Given the description of an element on the screen output the (x, y) to click on. 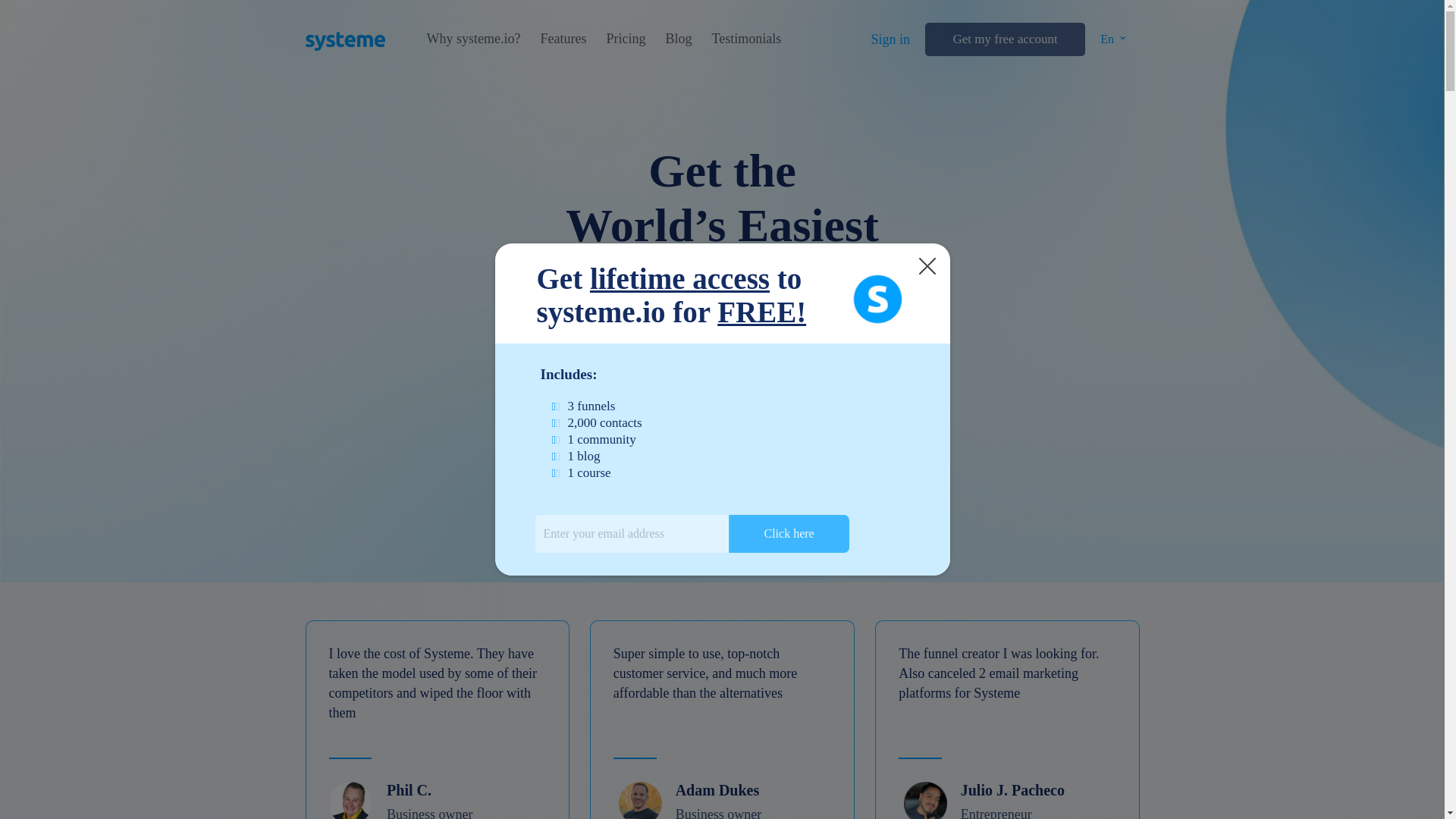
Sign in (890, 39)
Testimonials (745, 38)
Blog (678, 38)
Pricing (625, 38)
Get my free account (1004, 39)
Why systeme.io? (472, 38)
Features (563, 38)
